Given the description of an element on the screen output the (x, y) to click on. 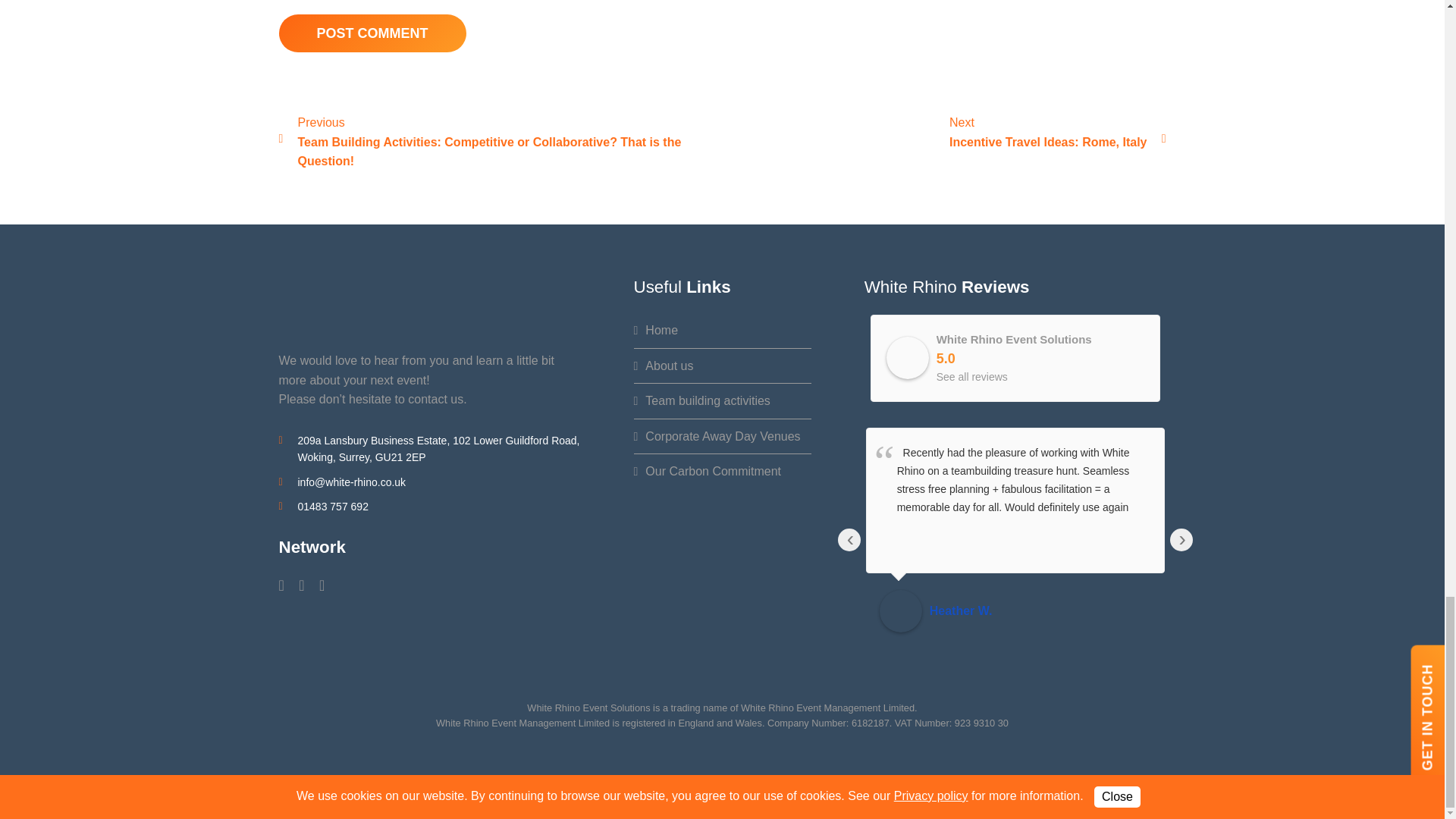
Post Comment (372, 33)
White Rhino Event Solutions (907, 357)
Post Comment (372, 33)
Heather W. (1040, 610)
Heather W. (900, 610)
